Given the description of an element on the screen output the (x, y) to click on. 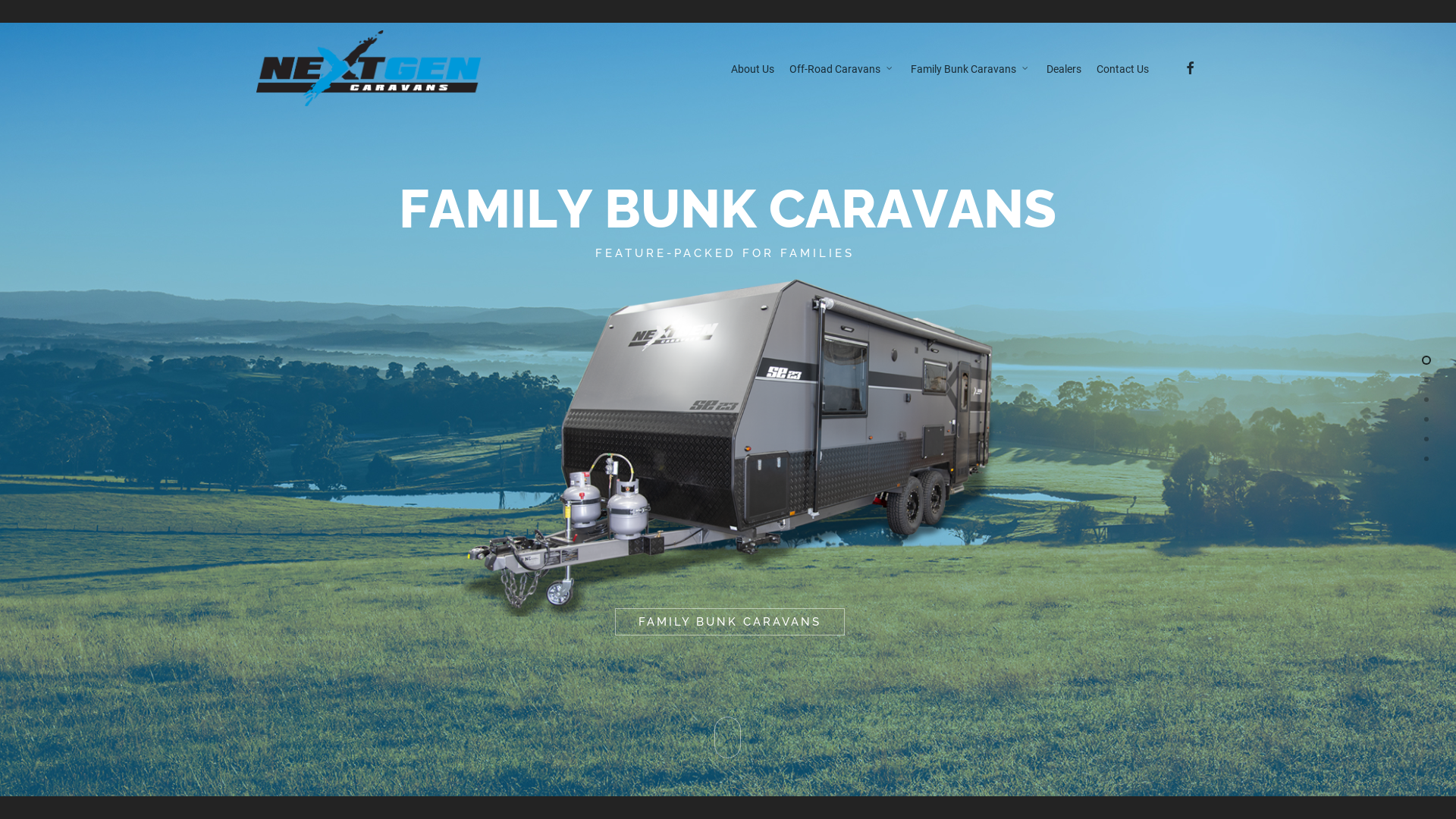
Contact Us Element type: text (1122, 67)
Dealers Element type: text (1063, 67)
About Us Element type: text (752, 67)
Family Bunk Caravans Element type: text (970, 67)
Off-Road Caravans Element type: text (841, 67)
facebook Element type: text (1188, 67)
